Given the description of an element on the screen output the (x, y) to click on. 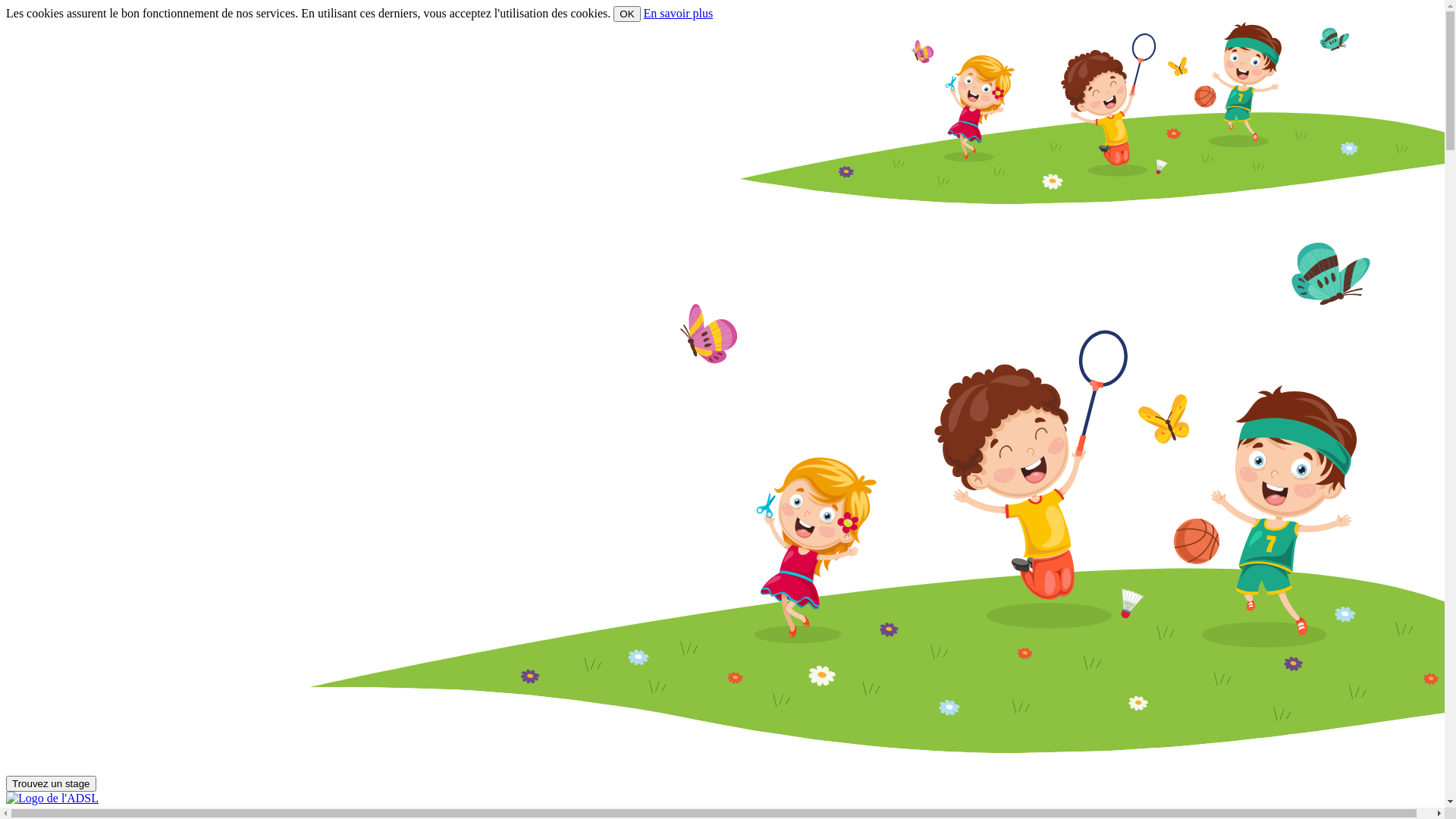
OK Element type: text (626, 13)
En savoir plus Element type: text (678, 12)
Trouvez un stage Element type: text (51, 783)
